Given the description of an element on the screen output the (x, y) to click on. 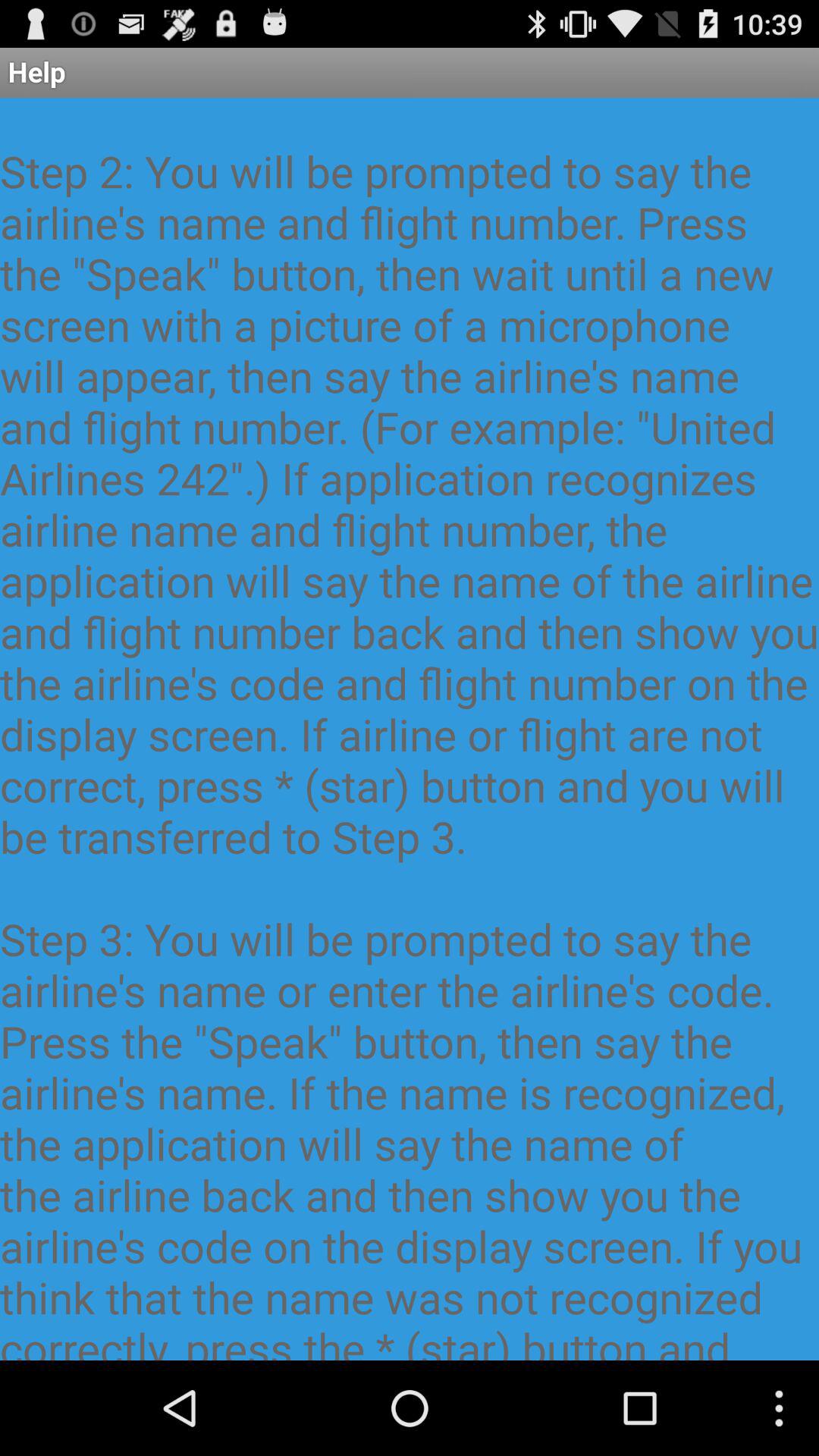
select this application resembles at the center (409, 728)
